Given the description of an element on the screen output the (x, y) to click on. 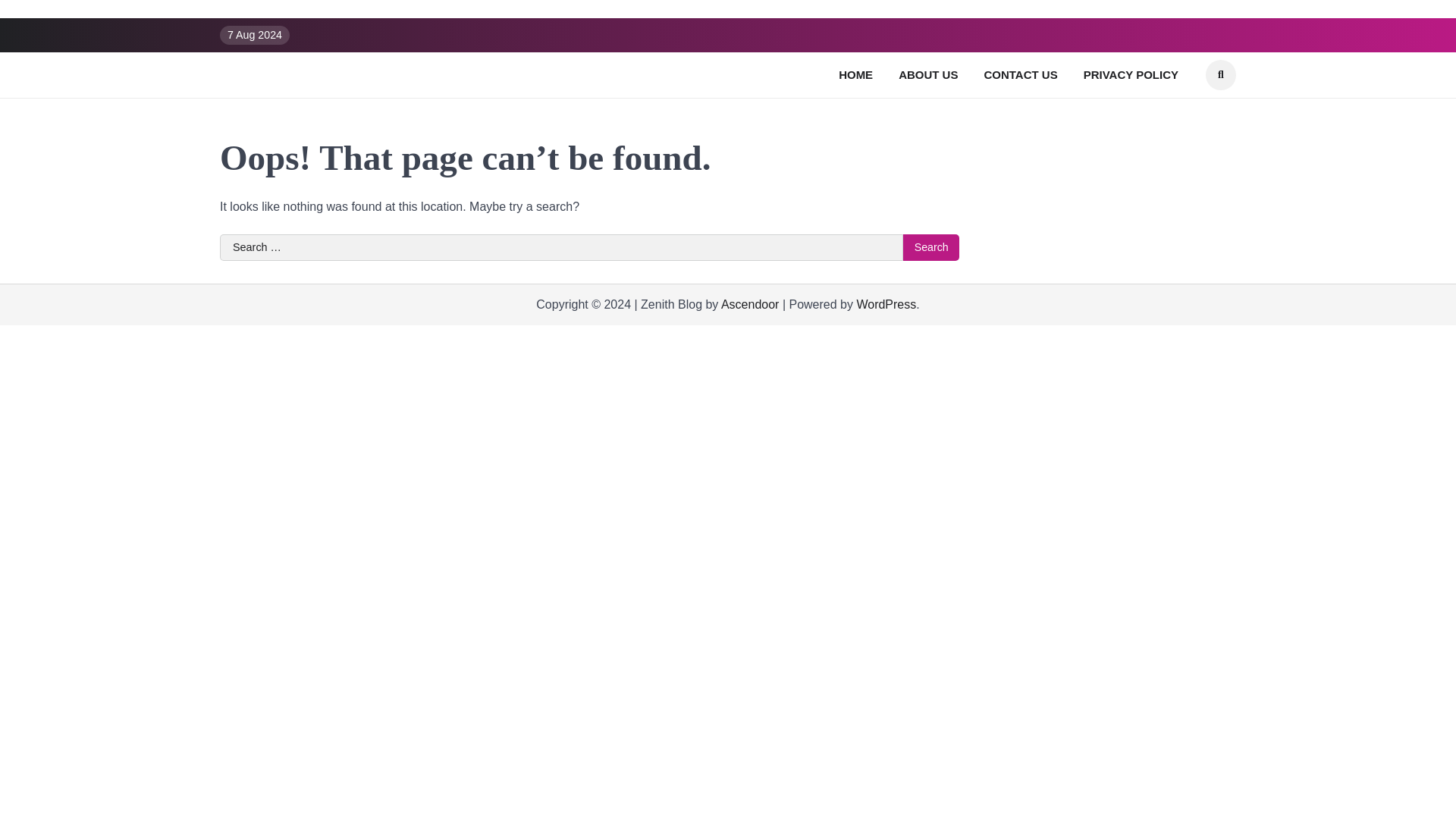
Search (930, 247)
Search (1220, 74)
Search (930, 247)
